Given the description of an element on the screen output the (x, y) to click on. 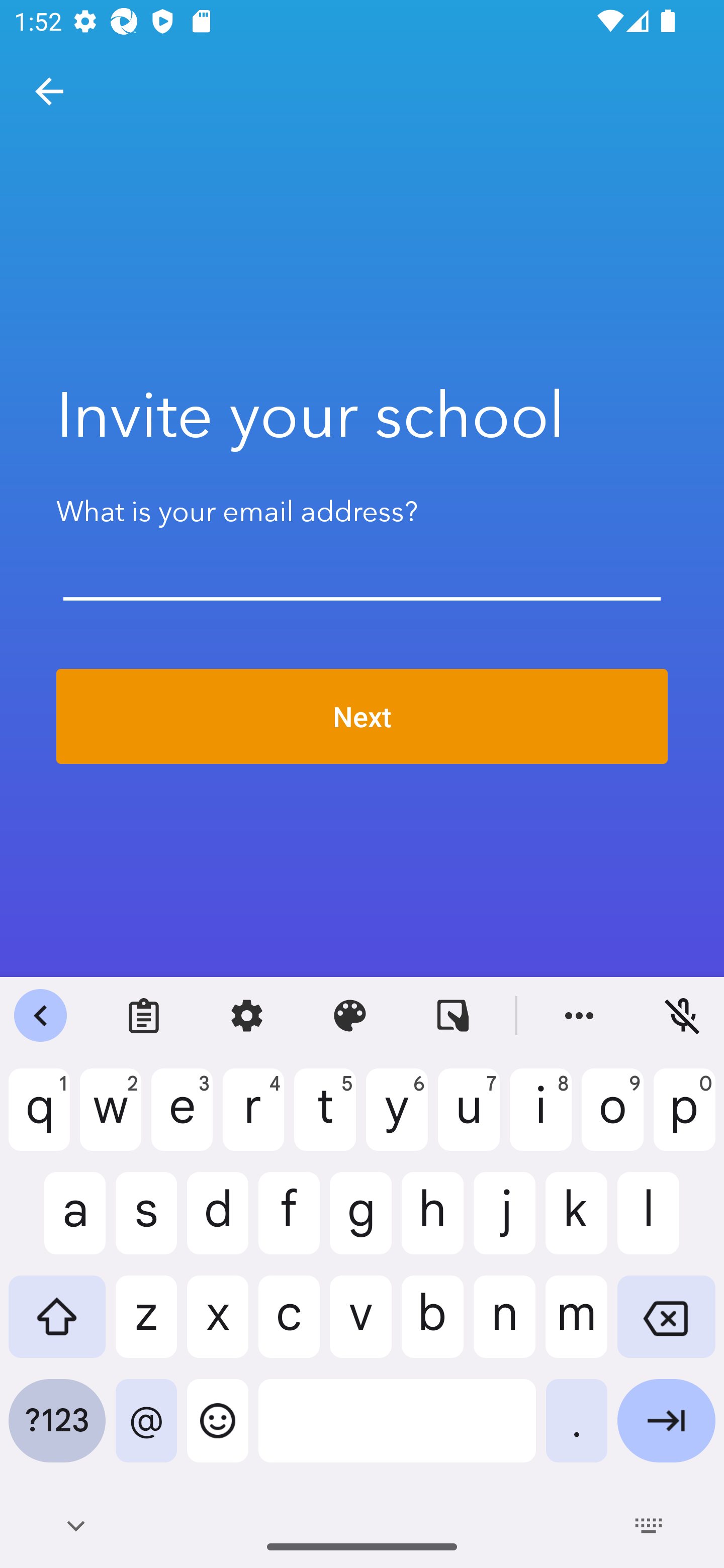
Navigate up (49, 91)
Next (361, 716)
